Given the description of an element on the screen output the (x, y) to click on. 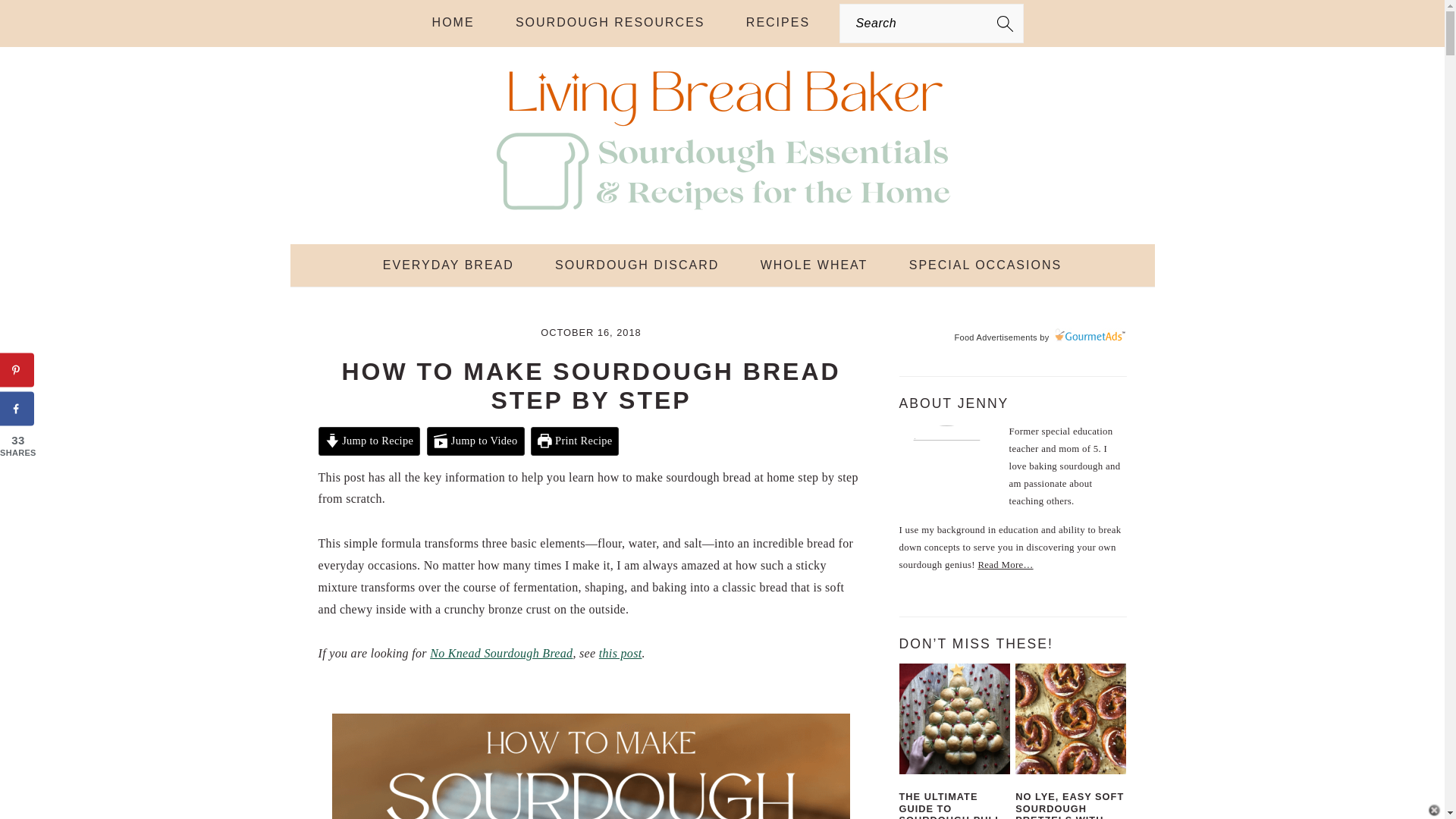
Food Advertisements (994, 337)
SOURDOUGH RESOURCES (609, 22)
EVERYDAY BREAD (448, 265)
SPECIAL OCCASIONS (984, 265)
Jump to Recipe (369, 440)
SOURDOUGH DISCARD (636, 265)
Save to Pinterest (16, 369)
HOME (453, 22)
Print Recipe (574, 440)
Living Bread Baker (721, 141)
No Lye, Easy Soft Sourdough Pretzels with Stiff Starter (1069, 718)
No Knead Sourdough Bread (500, 653)
Search (275, 19)
Living Bread Baker (721, 212)
Jump to Video (475, 440)
